Given the description of an element on the screen output the (x, y) to click on. 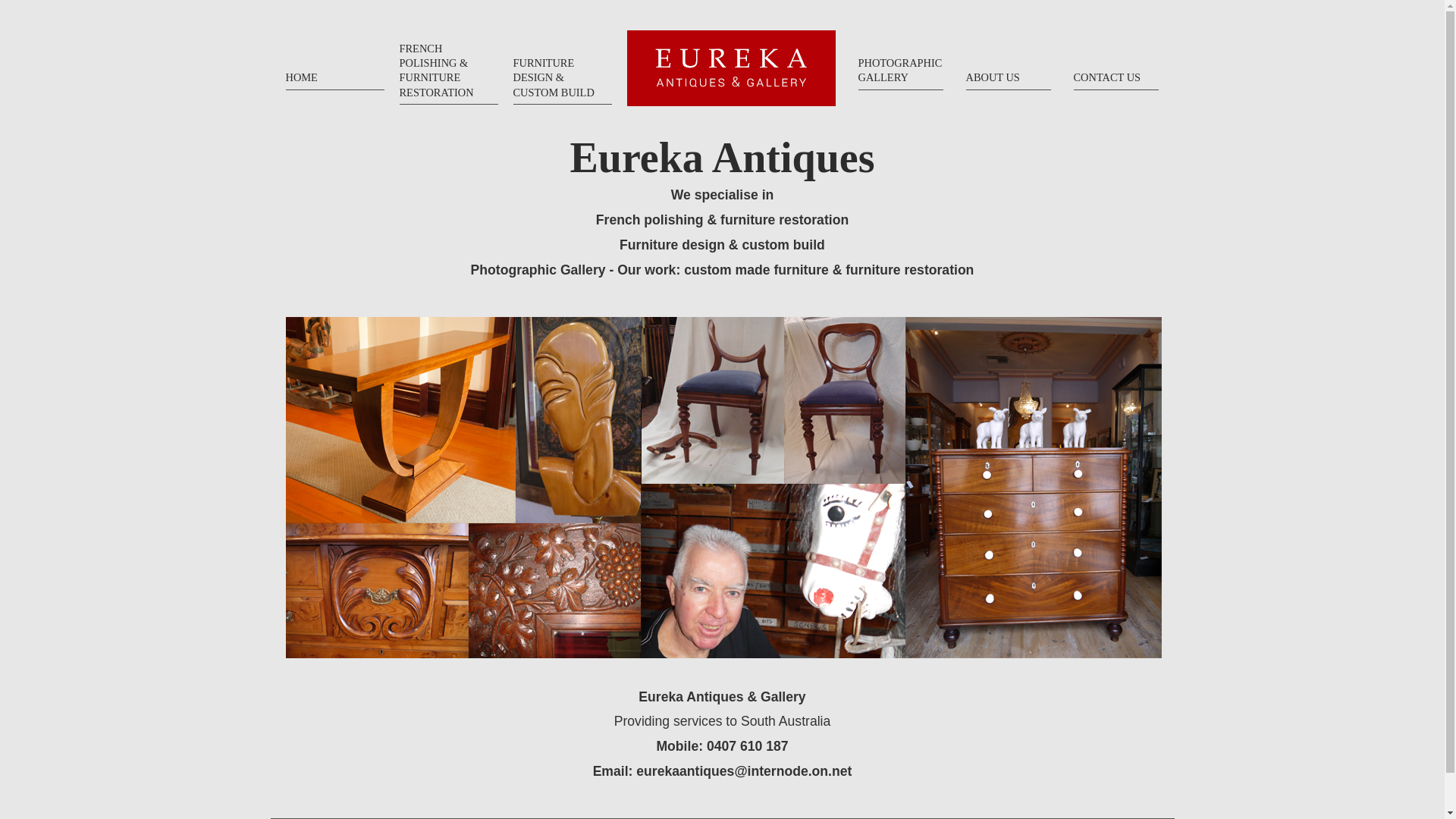
French polishing & furniture restoration Element type: text (722, 219)
FURNITURE DESIGN & CUSTOM BUILD Element type: text (561, 70)
Mobile: 0407 610 187 Element type: text (721, 745)
FRENCH POLISHING & FURNITURE RESTORATION Element type: text (447, 70)
ABOUT US Element type: text (1008, 63)
PHOTOGRAPHIC GALLERY Element type: text (900, 63)
Furniture design & custom build Element type: text (722, 244)
HOME Element type: text (334, 63)
eurekaantiques@internode.on.net Element type: text (743, 770)
CONTACT US Element type: text (1115, 63)
